Given the description of an element on the screen output the (x, y) to click on. 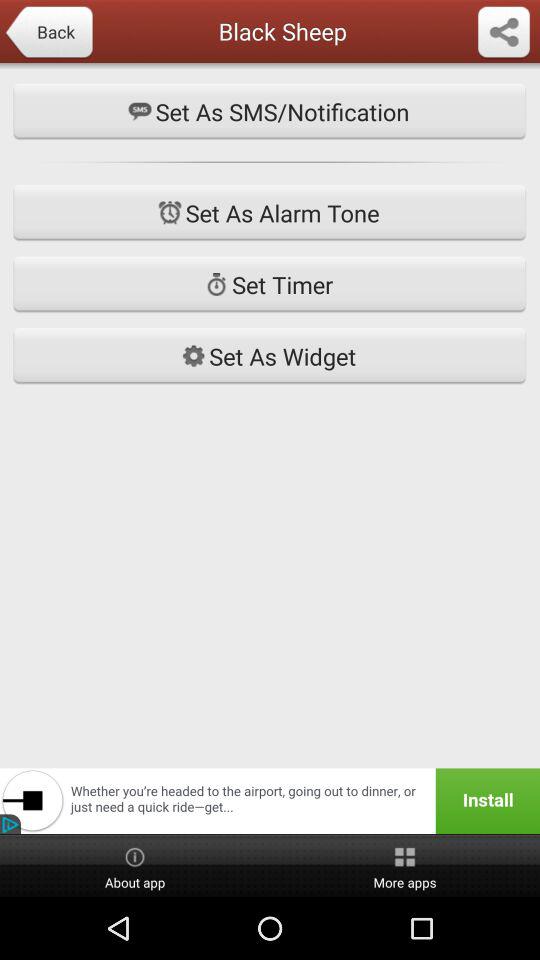
launch the more apps button (405, 866)
